Given the description of an element on the screen output the (x, y) to click on. 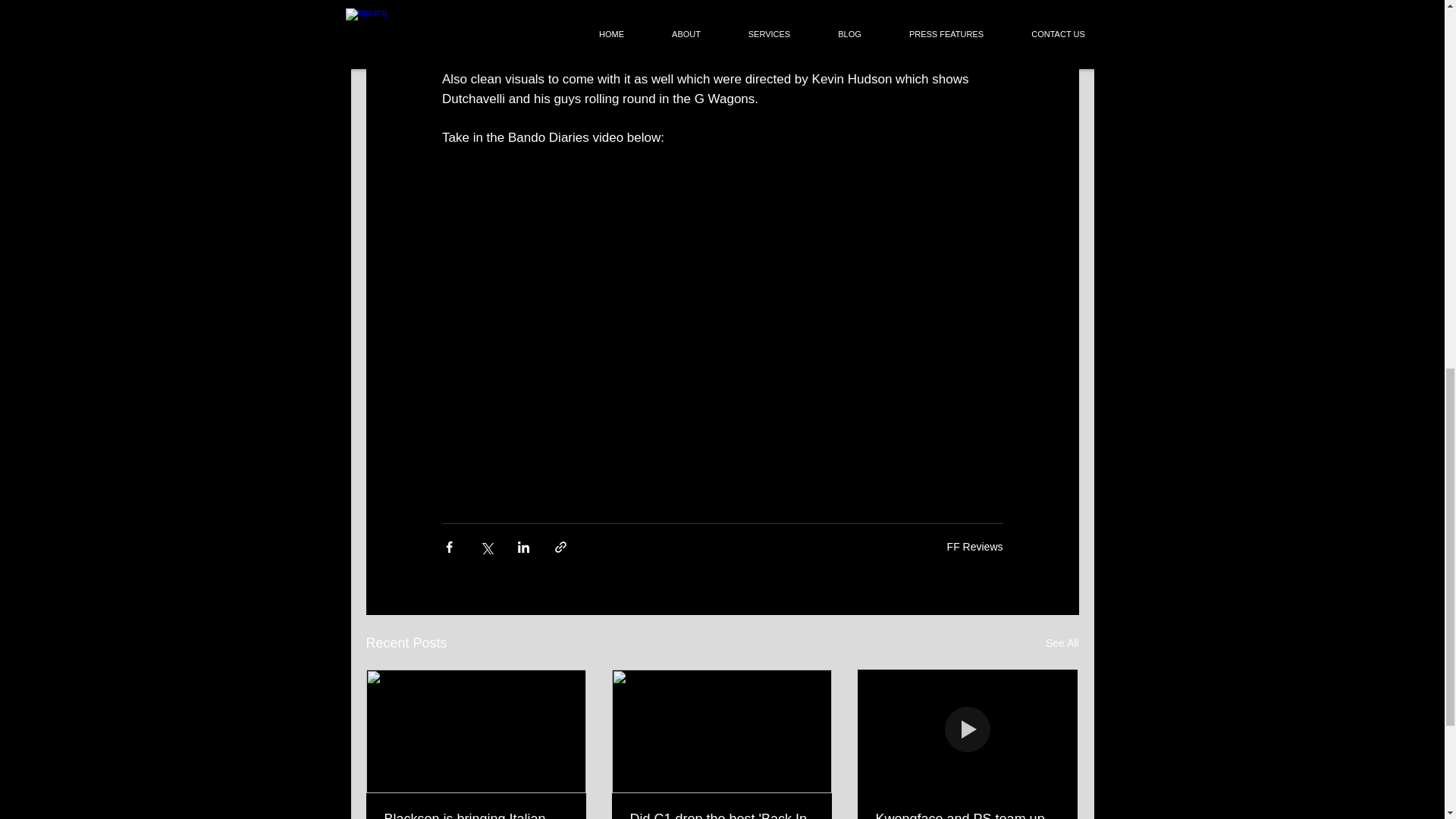
FF Reviews (975, 545)
See All (1061, 643)
Blackson is bringing Italian grime in with "Outsider" (475, 815)
